Given the description of an element on the screen output the (x, y) to click on. 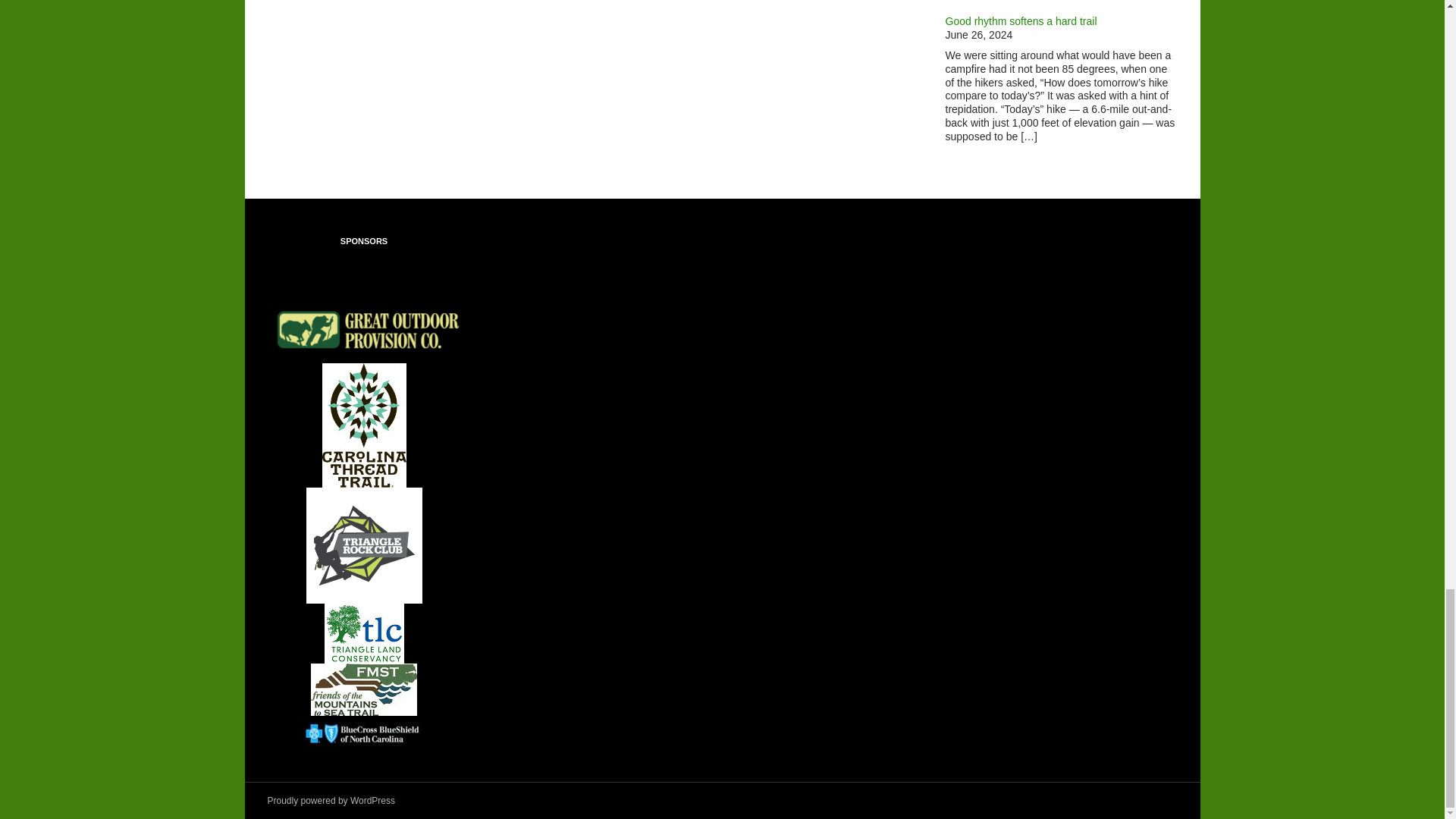
-2 (363, 689)
tlc2007logo (364, 633)
